Given the description of an element on the screen output the (x, y) to click on. 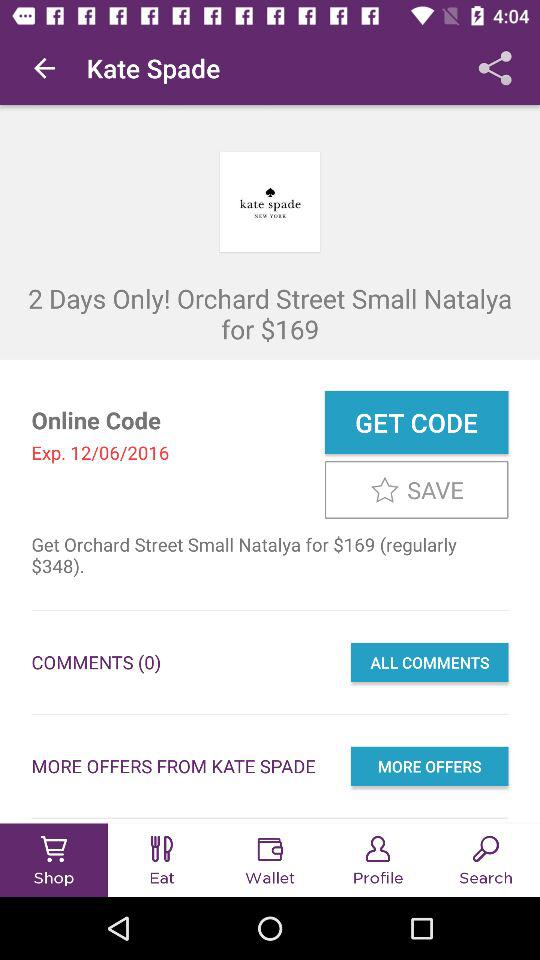
click icon to the left of the kate spade item (44, 68)
